Given the description of an element on the screen output the (x, y) to click on. 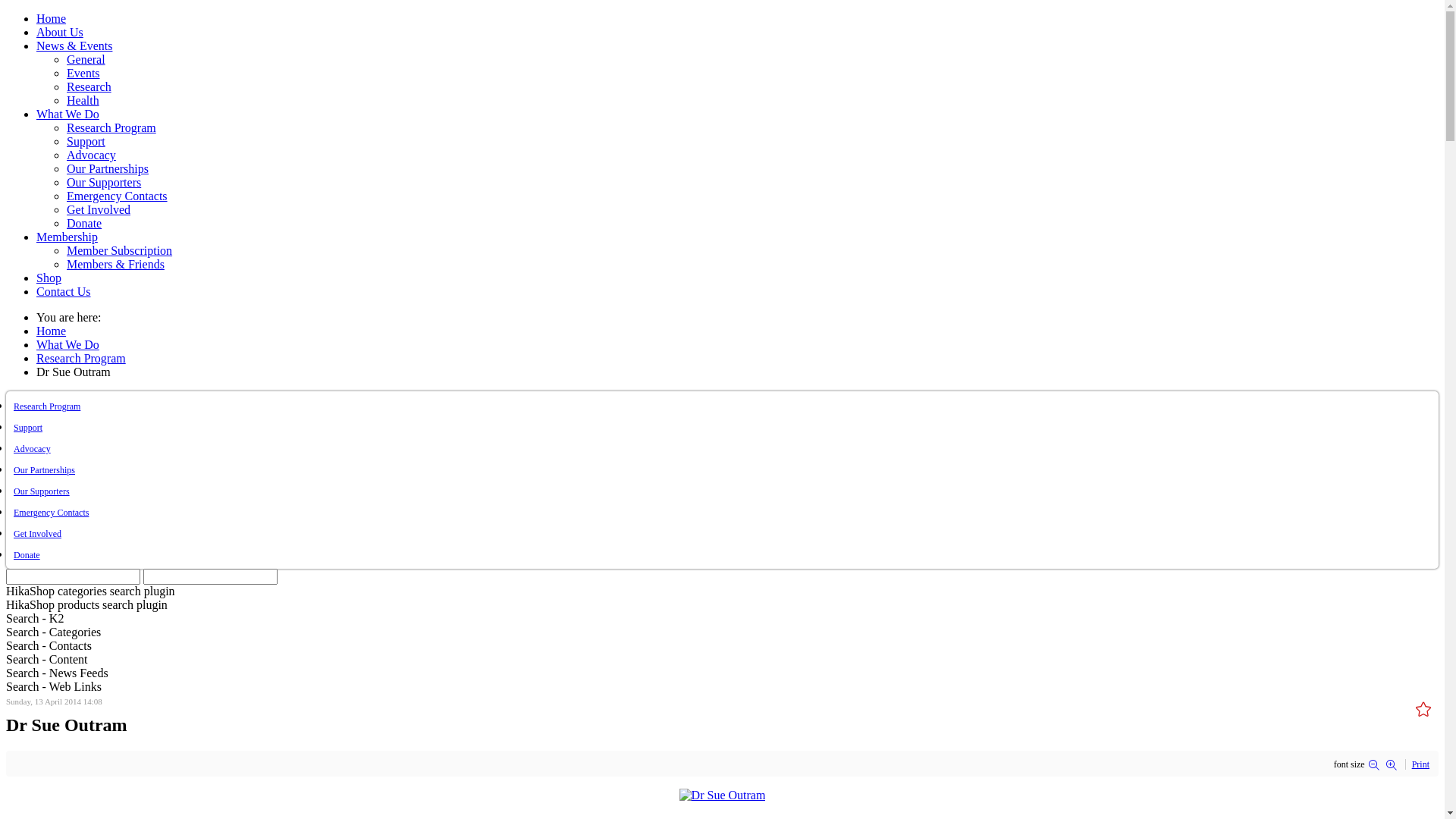
Emergency Contacts Element type: text (50, 512)
Emergency Contacts Element type: text (116, 195)
Print Element type: text (1420, 764)
Research Program Element type: text (111, 127)
Members & Friends Element type: text (115, 263)
Get Involved Element type: text (37, 533)
What We Do Element type: text (67, 344)
Advocacy Element type: text (31, 448)
Membership Element type: text (66, 236)
Donate Element type: text (83, 222)
General Element type: text (85, 59)
Our Partnerships Element type: text (107, 168)
Our Supporters Element type: text (103, 181)
What We Do Element type: text (67, 113)
News & Events Element type: text (74, 45)
Home Element type: text (50, 18)
Our Partnerships Element type: text (44, 469)
Click to preview image Element type: hover (722, 794)
Advocacy Element type: text (91, 154)
Home Element type: text (50, 330)
Donate Element type: text (26, 554)
Events Element type: text (83, 72)
Research Element type: text (88, 86)
Research Program Element type: text (80, 357)
Research Program Element type: text (46, 406)
Get Involved Element type: text (98, 209)
Our Supporters Element type: text (41, 491)
Support Element type: text (85, 140)
About Us Element type: text (59, 31)
Health Element type: text (82, 100)
Member Subscription Element type: text (119, 250)
Contact Us Element type: text (63, 291)
Support Element type: text (27, 427)
Shop Element type: text (48, 277)
